Given the description of an element on the screen output the (x, y) to click on. 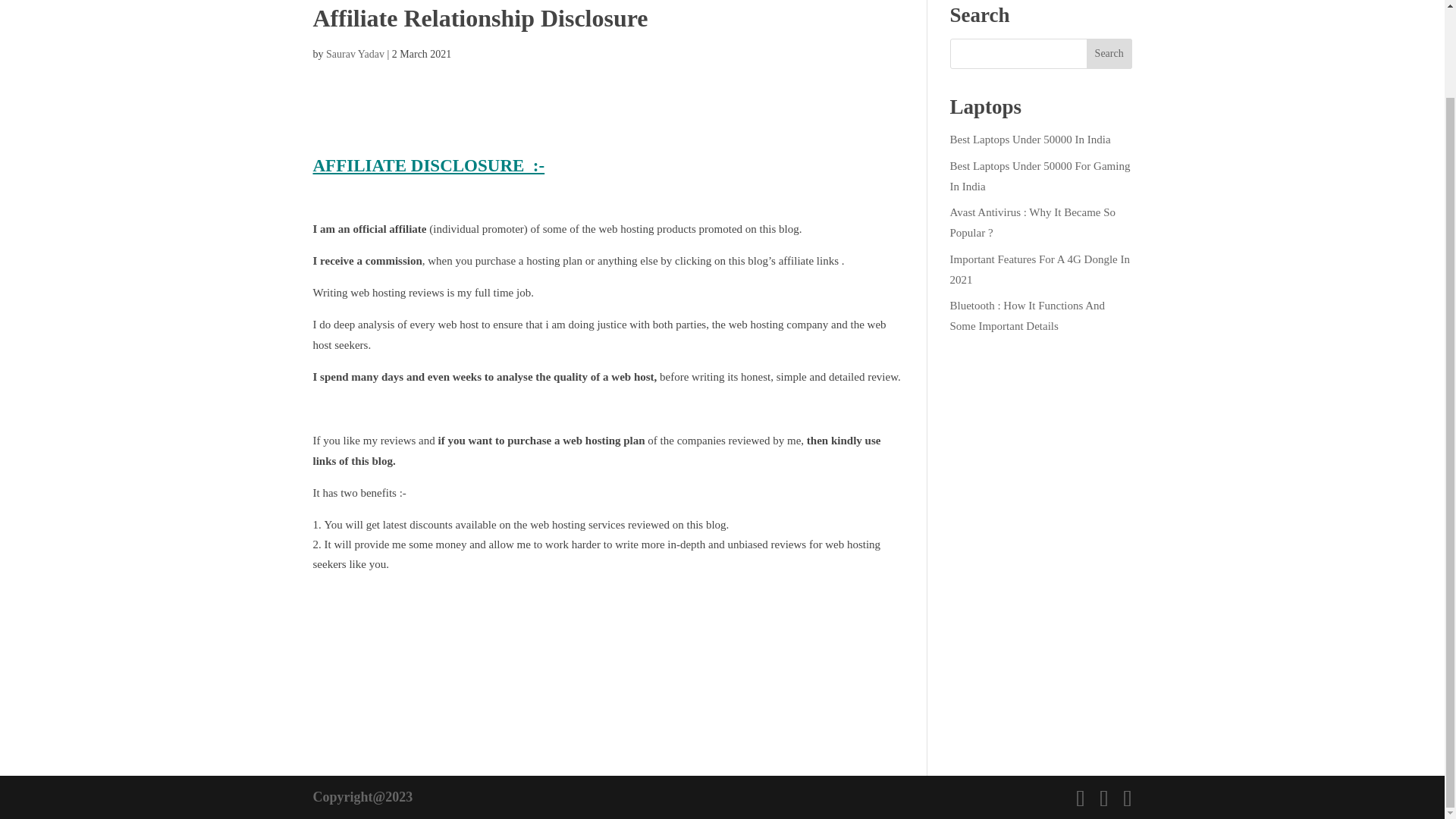
Best Laptops Under 50000 For Gaming In India (1039, 174)
Search (1109, 52)
Bluetooth : How It Functions And Some Important Details (1027, 315)
Avast Antivirus : Why It Became So Popular ? (1032, 222)
Important Features For A 4G Dongle In 2021 (1039, 269)
Best Laptops Under 50000 In India (1029, 139)
Posts by Saurav Yadav (355, 53)
Search (1109, 52)
Saurav Yadav (355, 53)
